Given the description of an element on the screen output the (x, y) to click on. 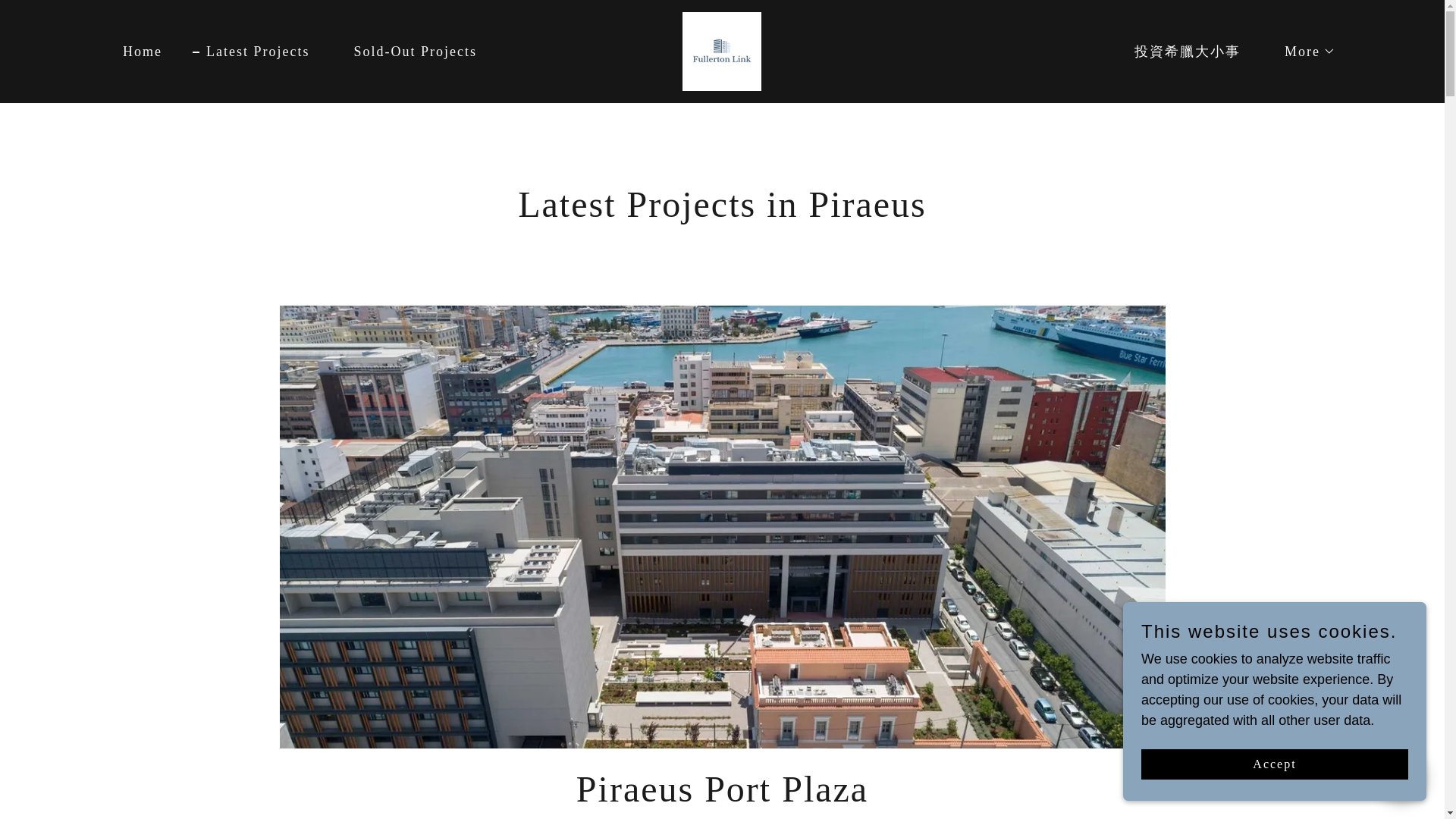
Sold-Out Projects (721, 50)
Home (407, 51)
More (135, 51)
Latest Projects (1303, 51)
